Given the description of an element on the screen output the (x, y) to click on. 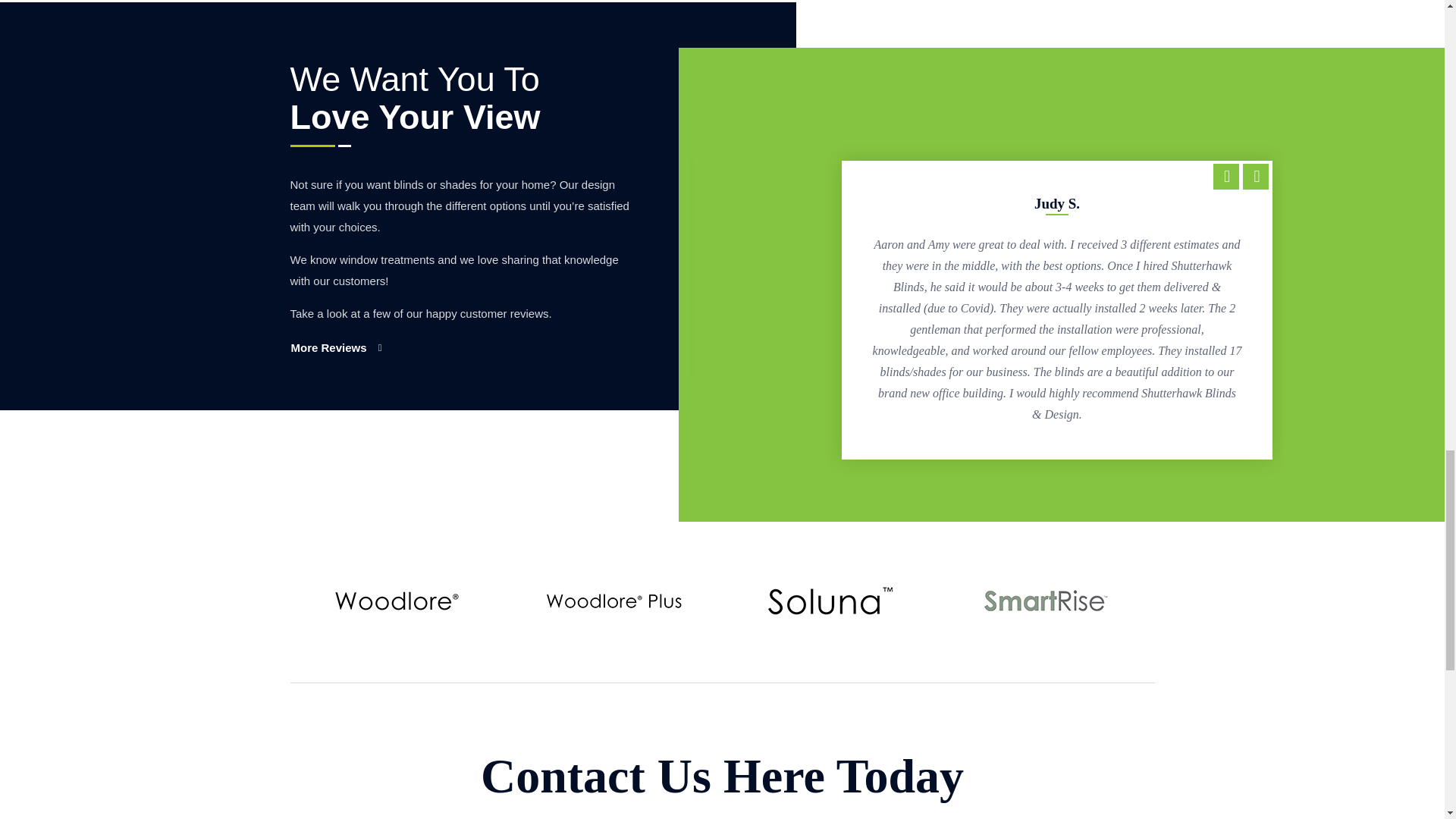
Previous (1225, 176)
Next (1255, 176)
More Reviews (335, 347)
